Given the description of an element on the screen output the (x, y) to click on. 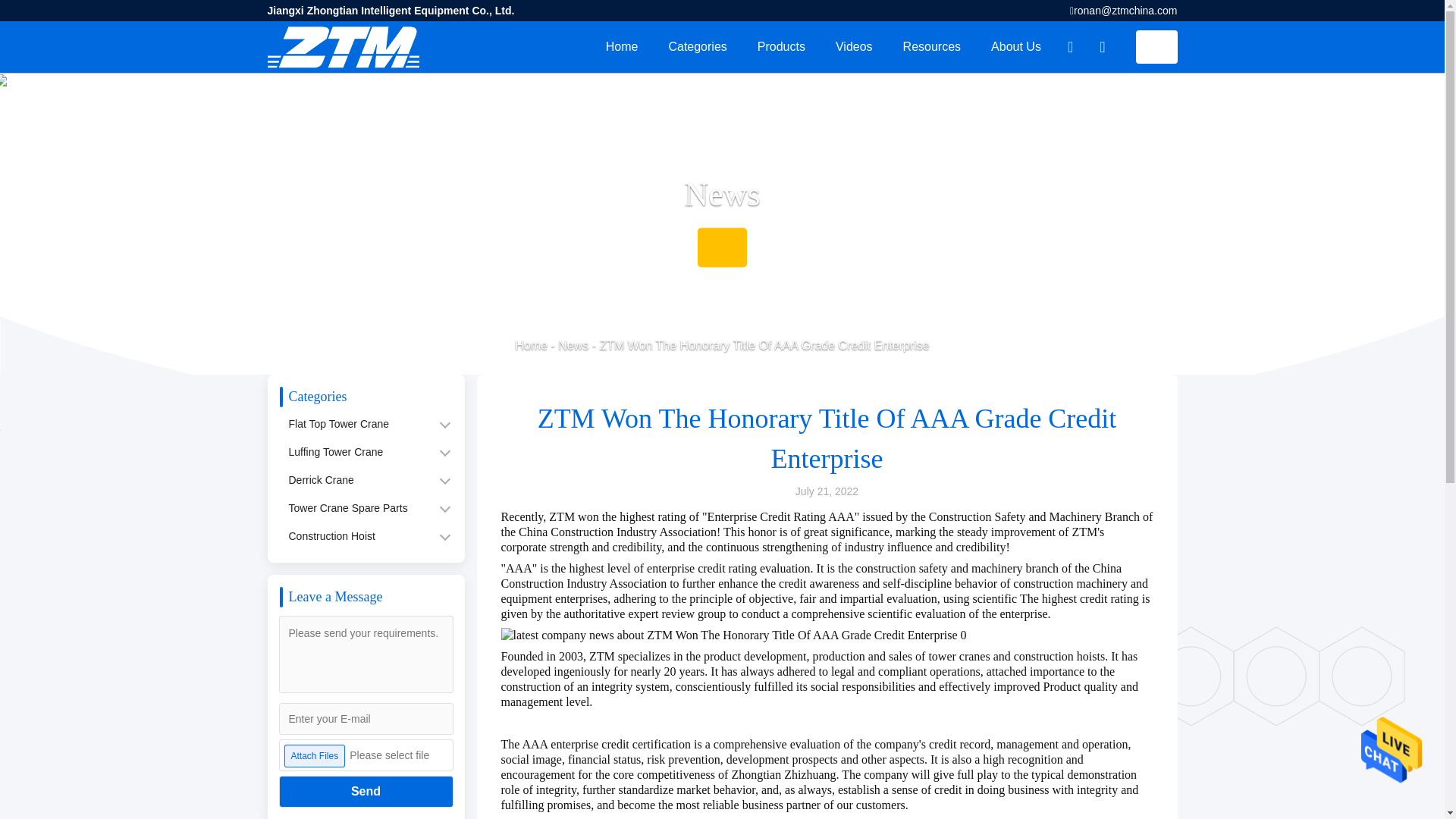
Get a Quote (1156, 46)
Home (622, 46)
Quote (1156, 46)
Categories (696, 46)
